Given the description of an element on the screen output the (x, y) to click on. 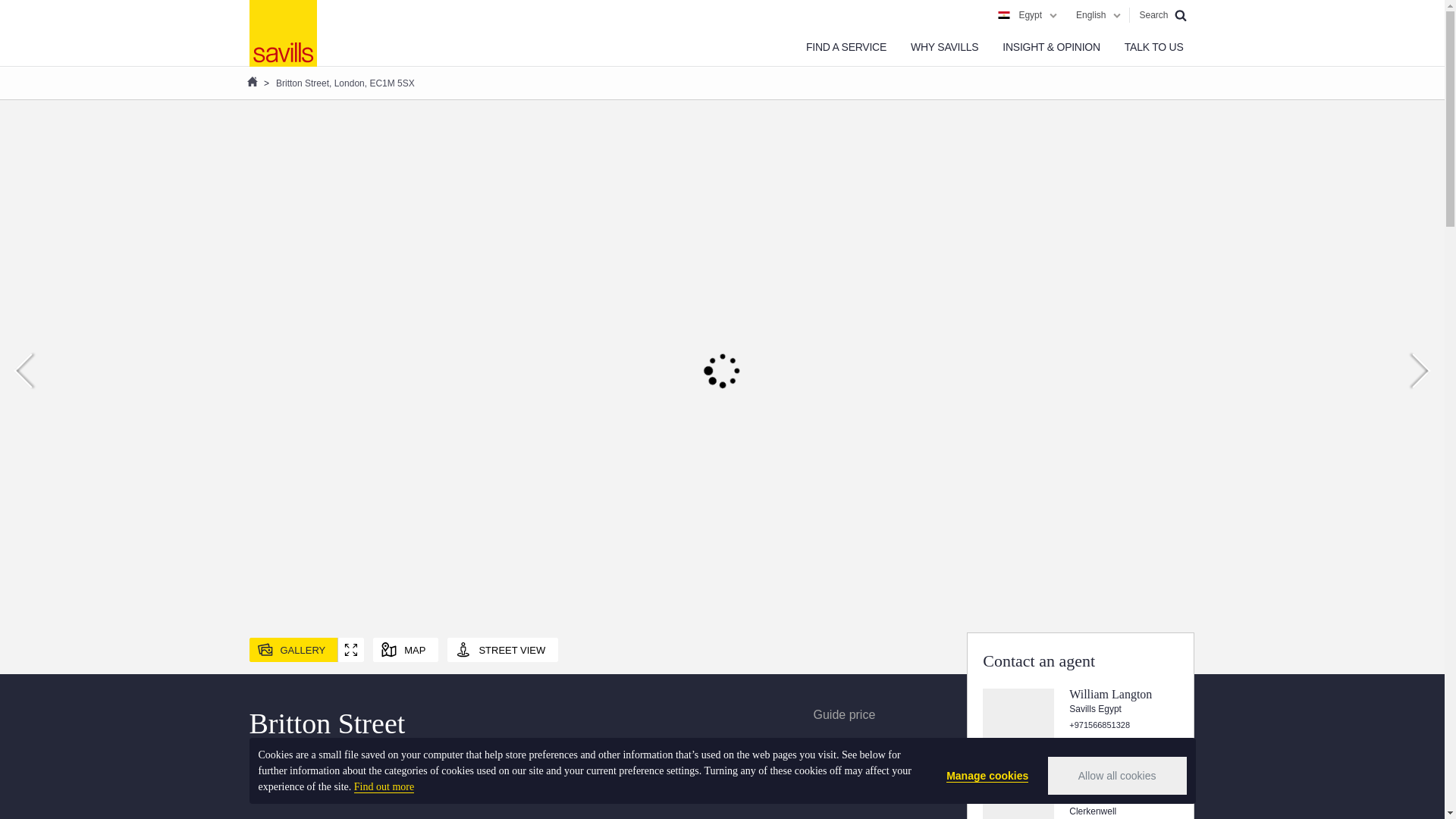
Find out more (383, 787)
Manage cookies (986, 775)
Go to homepage (281, 33)
Search (1162, 14)
Allow all cookies (1117, 775)
FIND A SERVICE (845, 46)
